Given the description of an element on the screen output the (x, y) to click on. 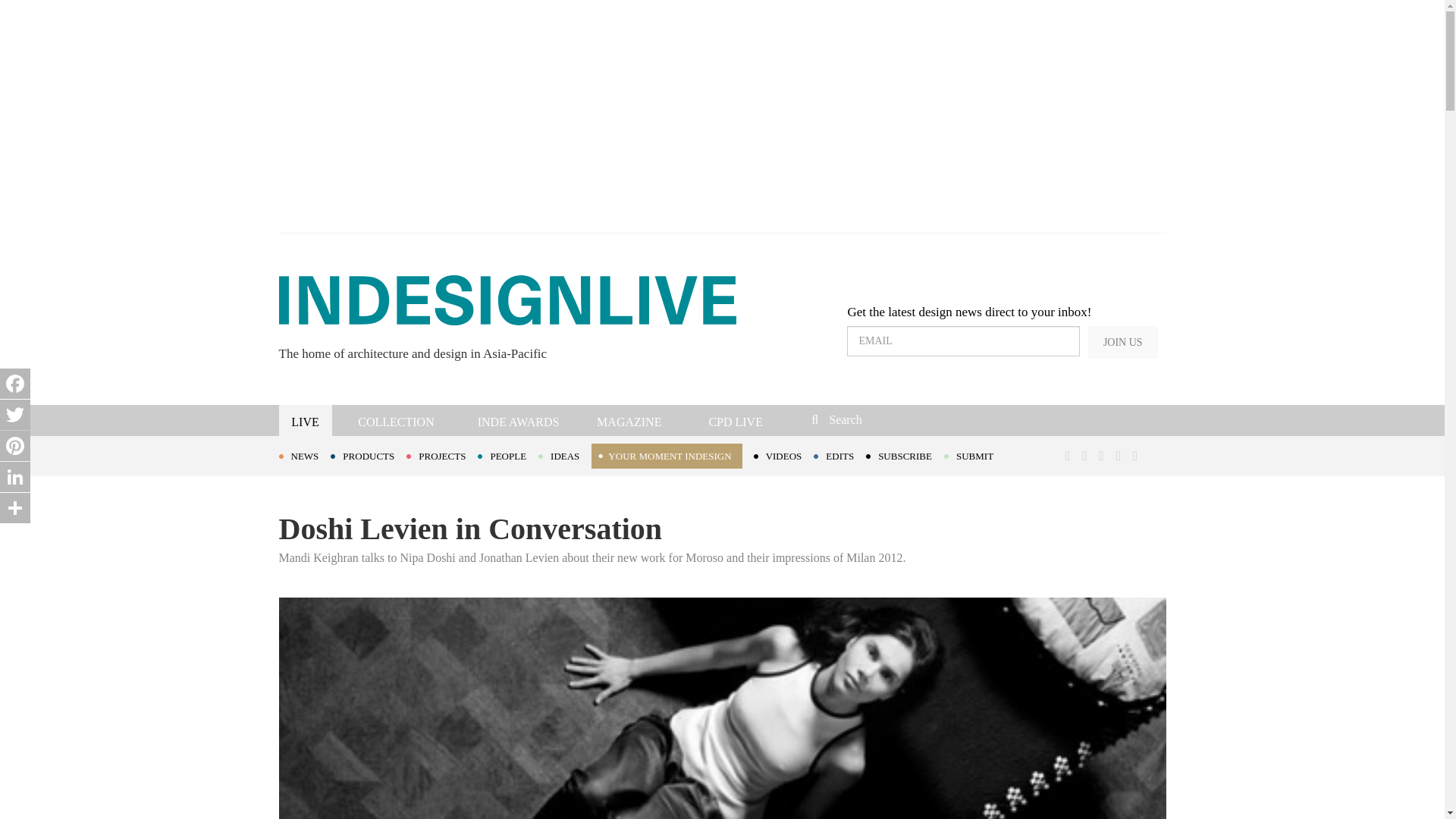
PRODUCTS (368, 455)
SUBMIT (974, 455)
JOIN US (1122, 341)
Search (913, 418)
SUBSCRIBE (904, 455)
IDEAS (564, 455)
PEOPLE (507, 455)
NEWS (305, 455)
VIDEOS (783, 455)
YOUR MOMENT INDESIGN (666, 455)
PROJECTS (441, 455)
EDITS (839, 455)
